Given the description of an element on the screen output the (x, y) to click on. 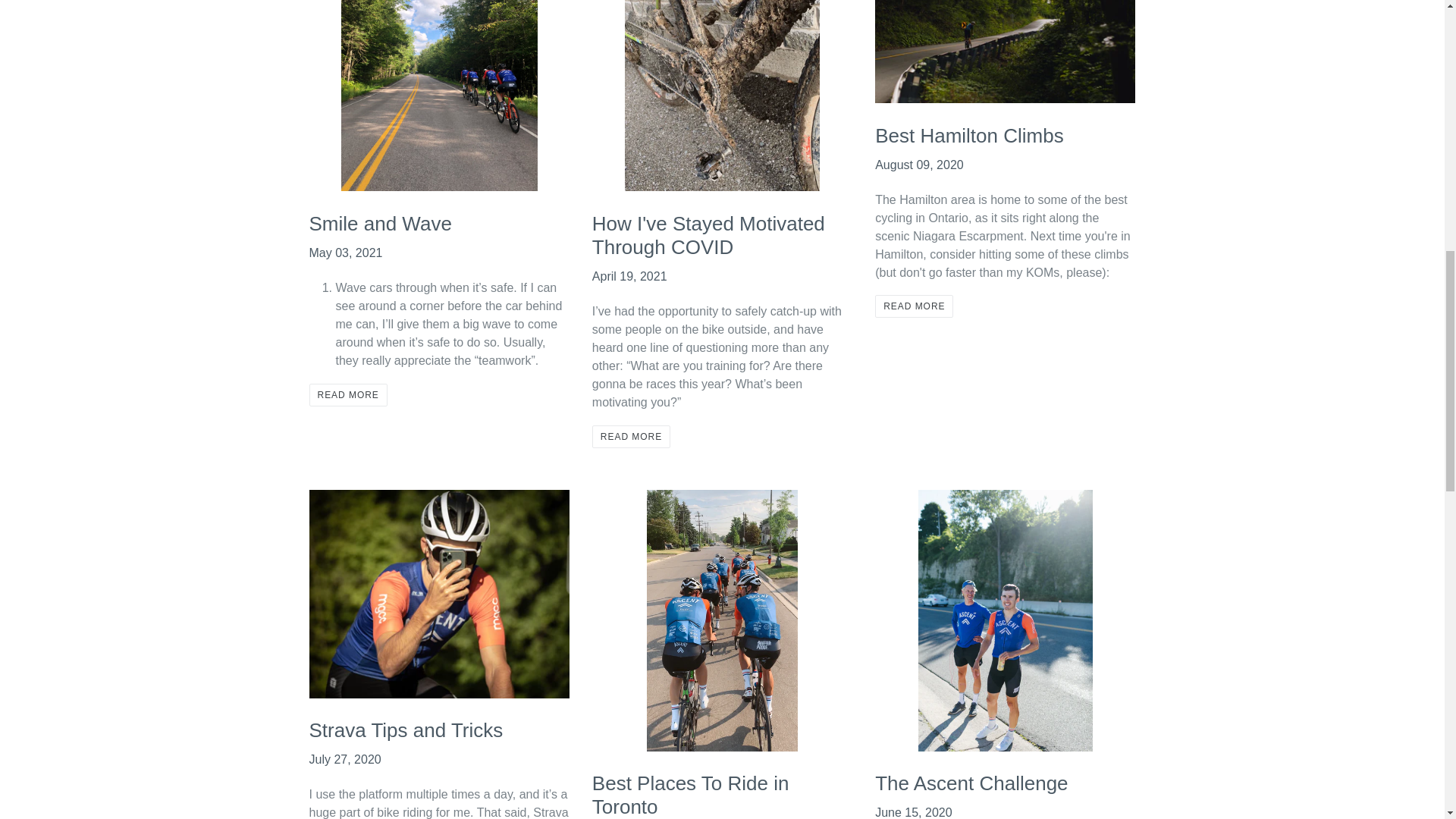
READ MORE (630, 436)
Best Hamilton Climbs (969, 135)
How I've Stayed Motivated Through COVID (708, 235)
READ MORE (914, 305)
Smile and Wave (379, 223)
READ MORE (347, 395)
